Given the description of an element on the screen output the (x, y) to click on. 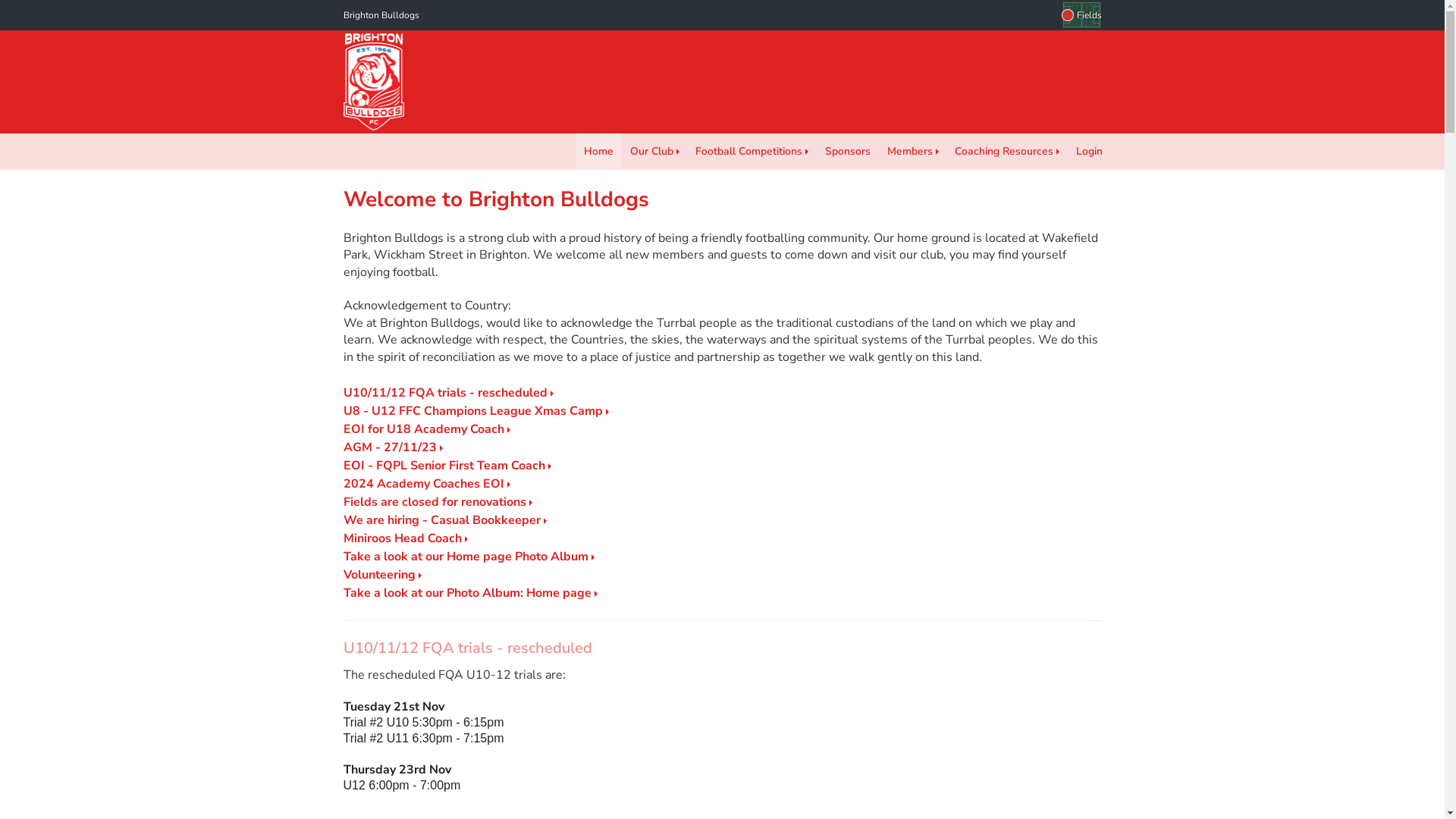
Fields are closed for renovations Element type: text (436, 501)
EOI for U18 Academy Coach Element type: text (425, 429)
Members Element type: text (912, 151)
We are hiring - Casual Bookkeeper Element type: text (444, 520)
Coaching Resources Element type: text (1006, 151)
Miniroos Head Coach Element type: text (404, 538)
Login Element type: text (1088, 151)
Brighton Bulldogs Element type: text (380, 15)
Our Club Element type: text (654, 151)
Volunteering Element type: text (381, 574)
Home Element type: text (598, 151)
Take a look at our Photo Album: Home page Element type: text (469, 592)
2024 Academy Coaches EOI Element type: text (425, 483)
AGM - 27/11/23 Element type: text (392, 447)
Sponsors Element type: text (847, 151)
Fields Element type: text (1081, 15)
Take a look at our Home page Photo Album Element type: text (467, 556)
U10/11/12 FQA trials - rescheduled Element type: text (447, 392)
EOI - FQPL Senior First Team Coach Element type: text (446, 465)
U8 - U12 FFC Champions League Xmas Camp Element type: text (475, 410)
Football Competitions Element type: text (752, 151)
